Given the description of an element on the screen output the (x, y) to click on. 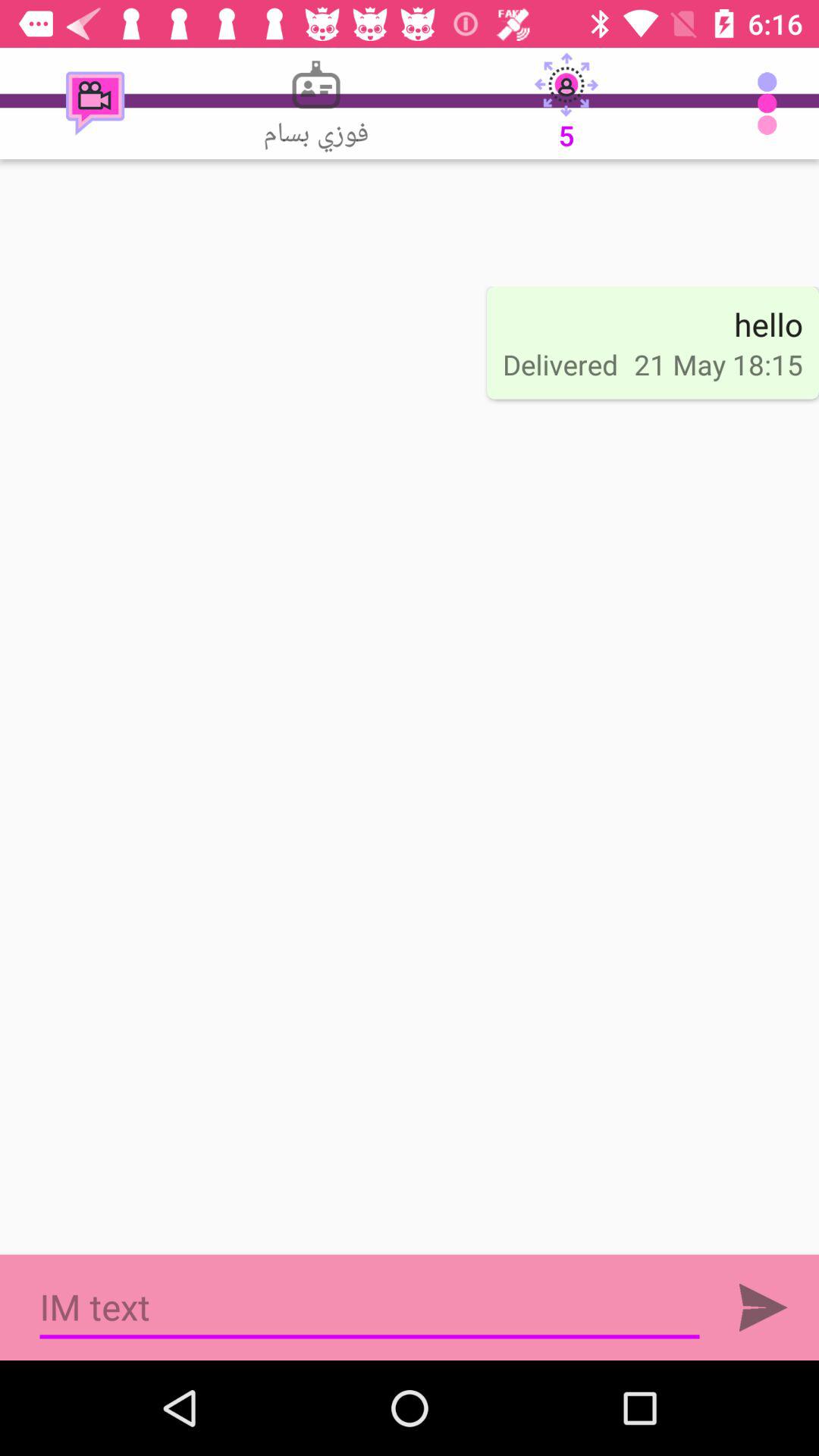
click item next to delivered icon (768, 323)
